Given the description of an element on the screen output the (x, y) to click on. 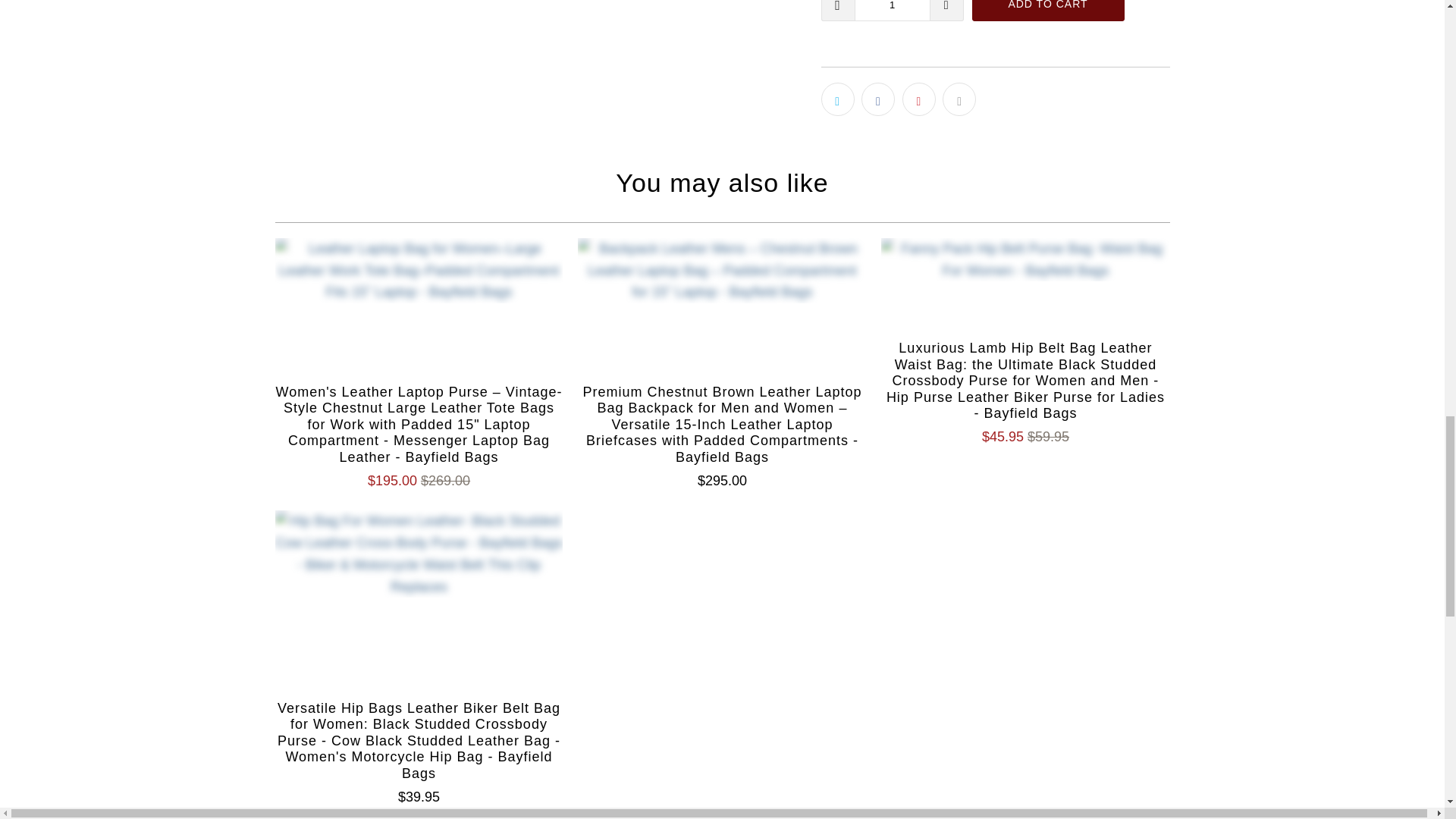
Share this on Facebook (878, 99)
Email this to a friend (958, 99)
Share this on Pinterest (919, 99)
Share this on Twitter (837, 99)
1 (891, 10)
